Given the description of an element on the screen output the (x, y) to click on. 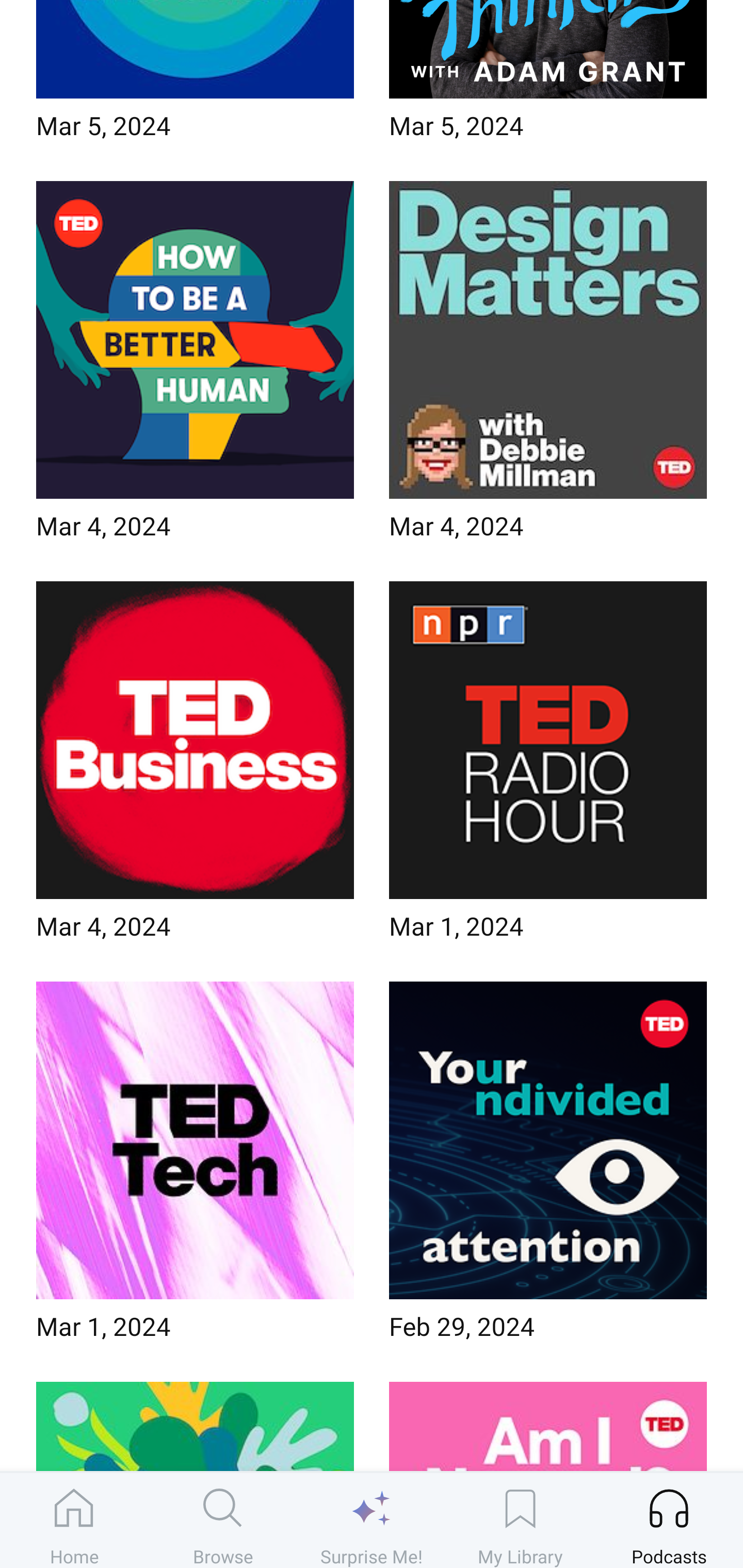
Mar 4, 2024 (194, 365)
Mar 4, 2024 (547, 365)
Mar 4, 2024 (194, 767)
Mar 1, 2024 (547, 767)
Mar 1, 2024 (194, 1167)
Feb 29, 2024 (547, 1167)
Home (74, 1520)
Browse (222, 1520)
Surprise Me! (371, 1520)
My Library (519, 1520)
Podcasts (668, 1520)
